Given the description of an element on the screen output the (x, y) to click on. 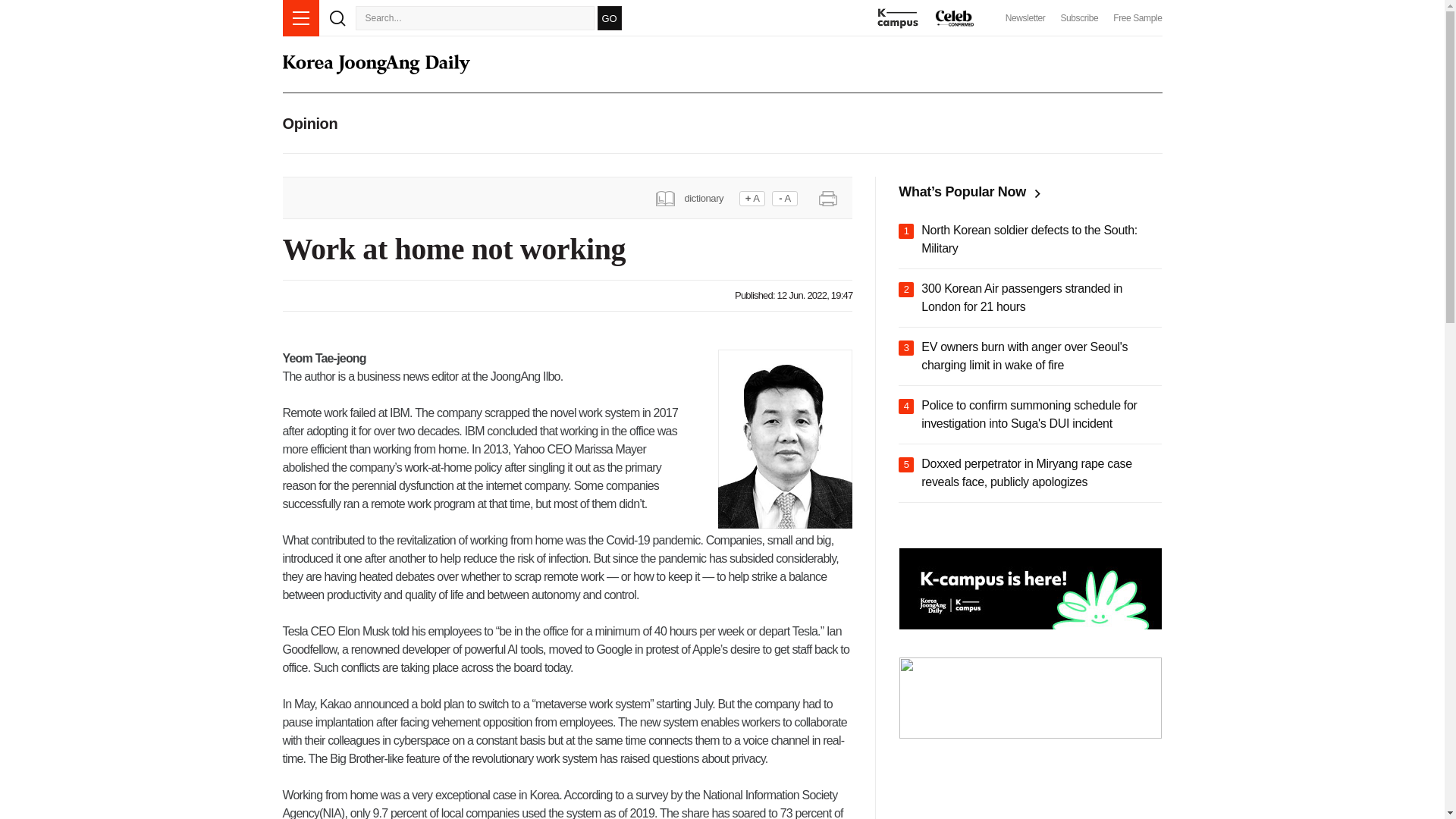
Subscribe (1078, 18)
Free Sample (1137, 18)
Newsletter (1025, 18)
- A (784, 198)
GO (608, 17)
dictionary (695, 196)
